Given the description of an element on the screen output the (x, y) to click on. 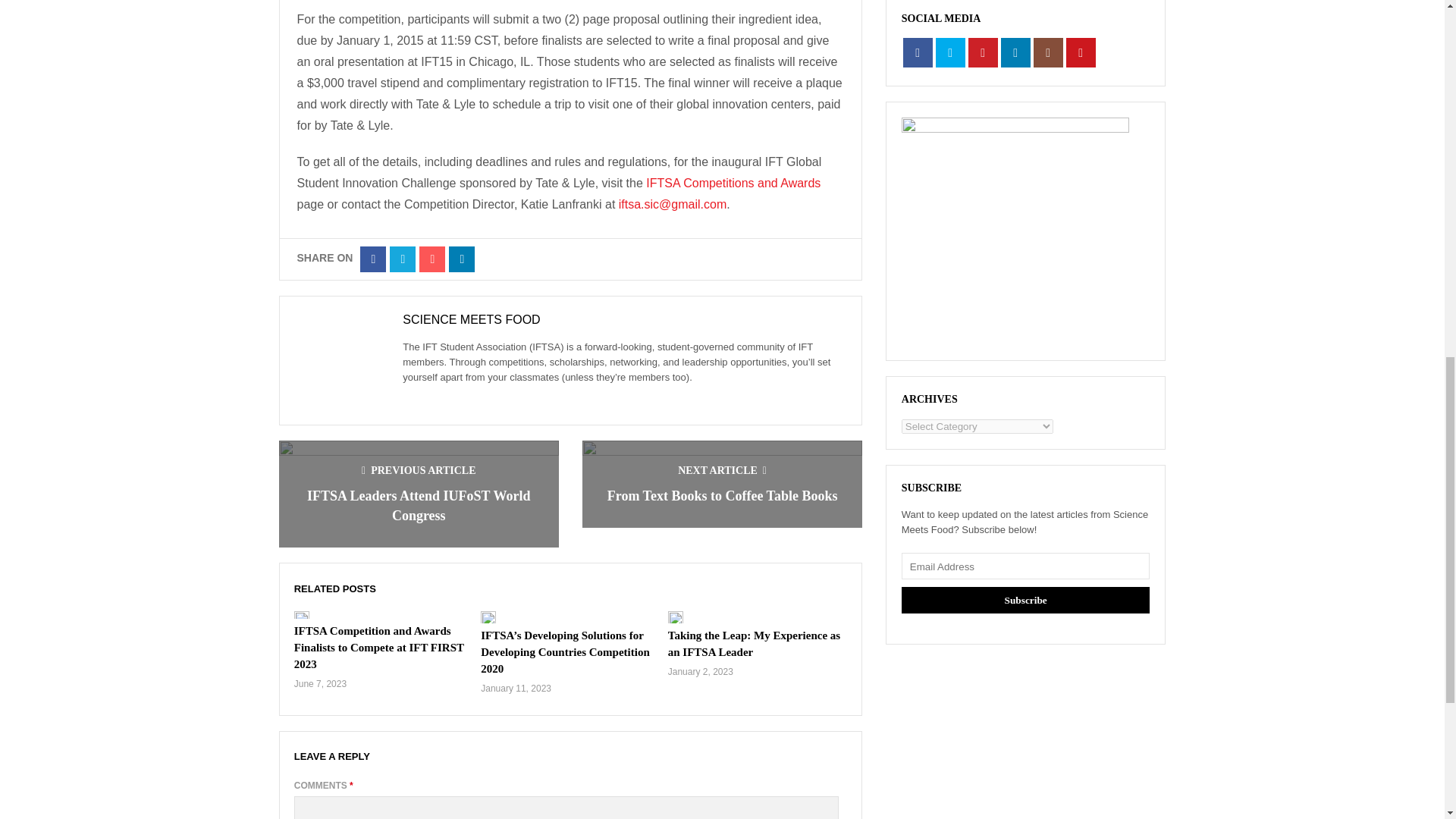
IFTSA Competitions and Awards (733, 182)
Taking the Leap: My Experience as an IFTSA Leader (754, 643)
Taking the Leap: My Experience as an IFTSA Leader (754, 643)
From Text Books to Coffee Table Books (722, 495)
IFTSA Leaders Attend IUFoST World Congress (418, 505)
Subscribe (1025, 600)
